Given the description of an element on the screen output the (x, y) to click on. 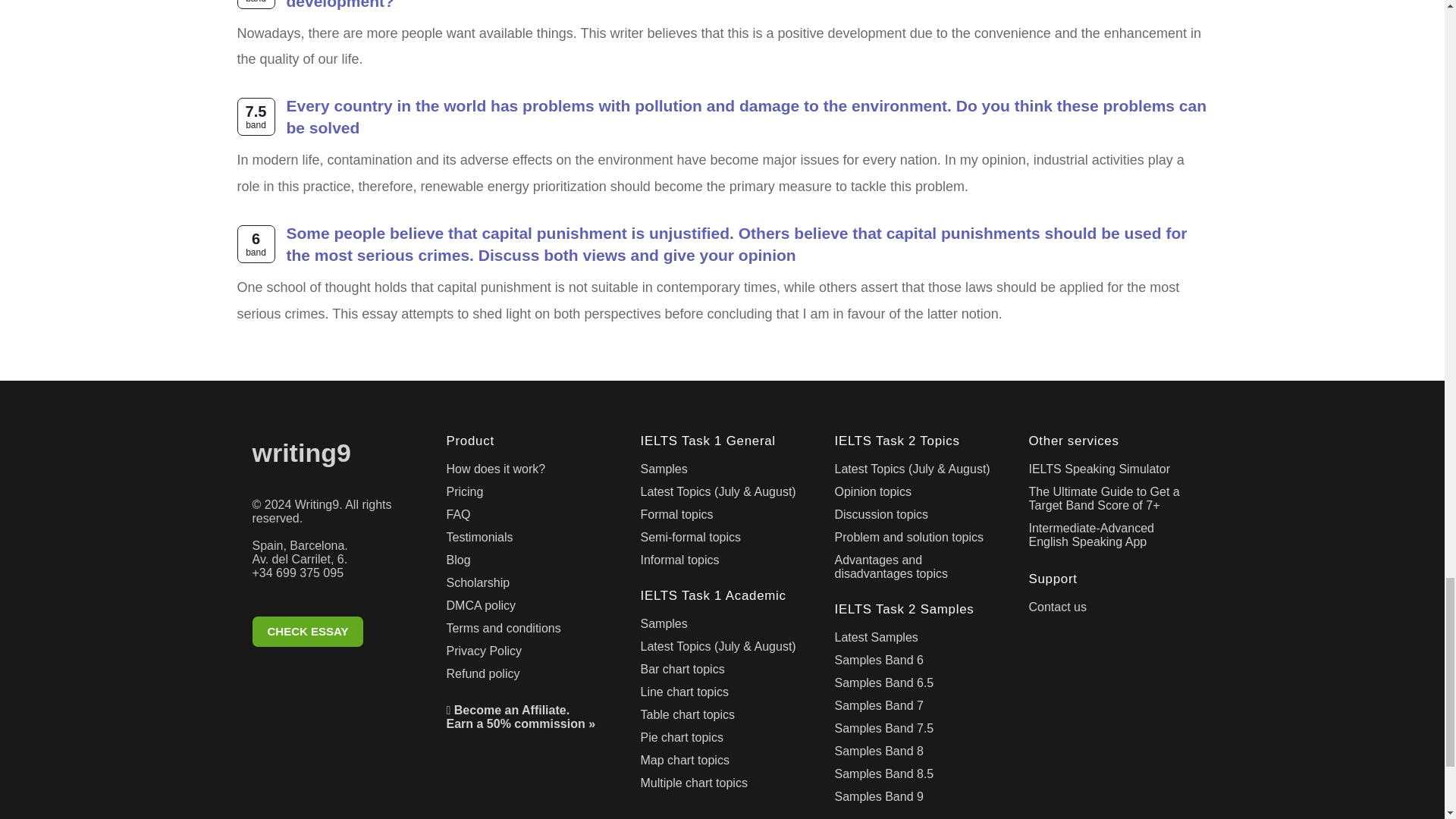
Terms and conditions (527, 630)
Testimonials (527, 540)
Refund policy (527, 676)
Pricing (527, 495)
Privacy Policy (527, 653)
CHECK ESSAY (332, 634)
IELTS Task 1 Academic Multiple chart topics (721, 785)
Blog (527, 563)
IELTS Task 1 General Formal topics (721, 517)
IELTS Task 1 Academic Samples (721, 626)
DMCA policy (527, 608)
IELTS Task 1 General Latest Topics (721, 495)
IELTS Task 2 Latest Topics (915, 472)
IELTS Task 1 Academic Bar chart topics (721, 671)
